Given the description of an element on the screen output the (x, y) to click on. 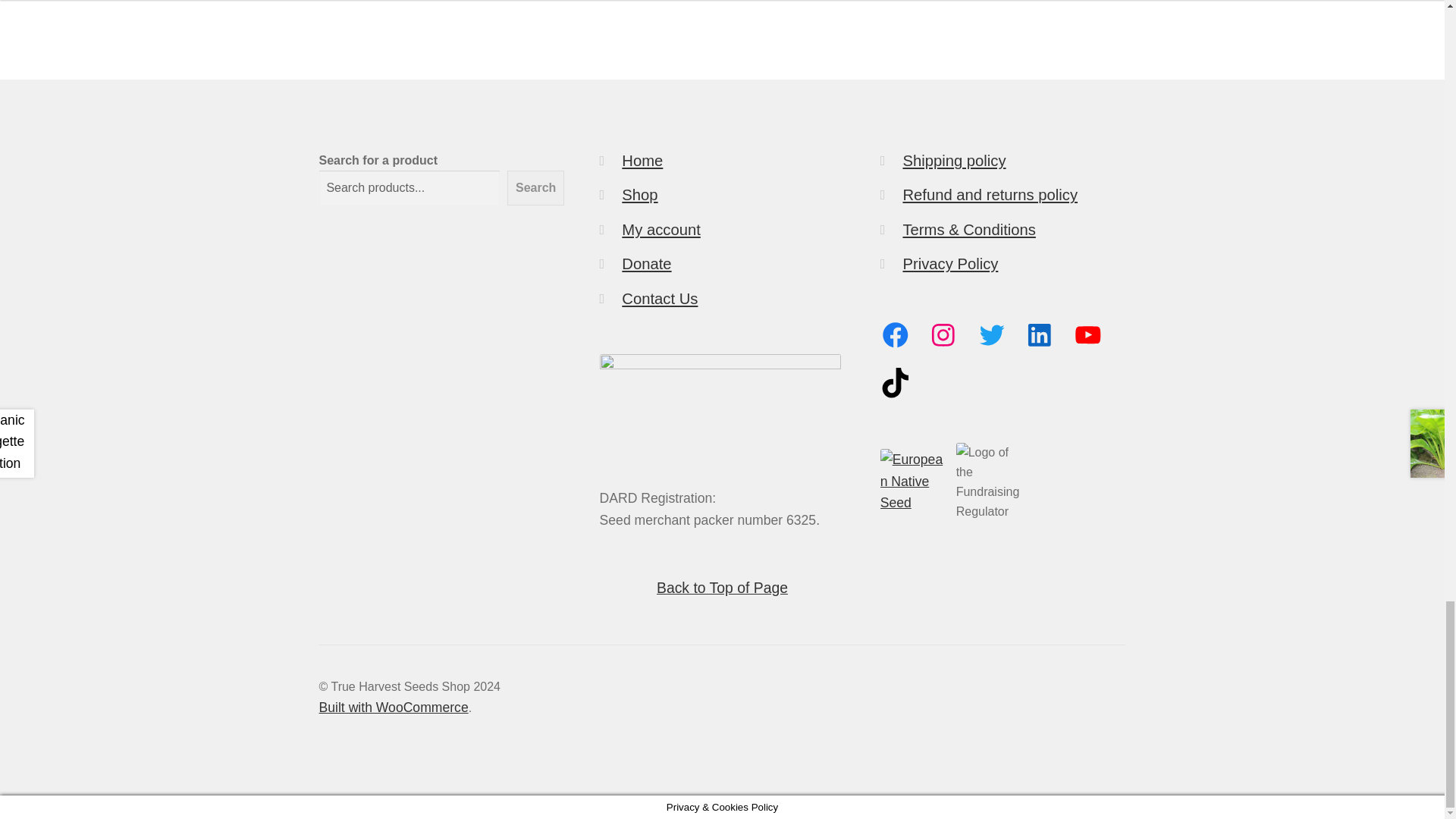
WooCommerce - The Best eCommerce Platform for WordPress (393, 707)
